Given the description of an element on the screen output the (x, y) to click on. 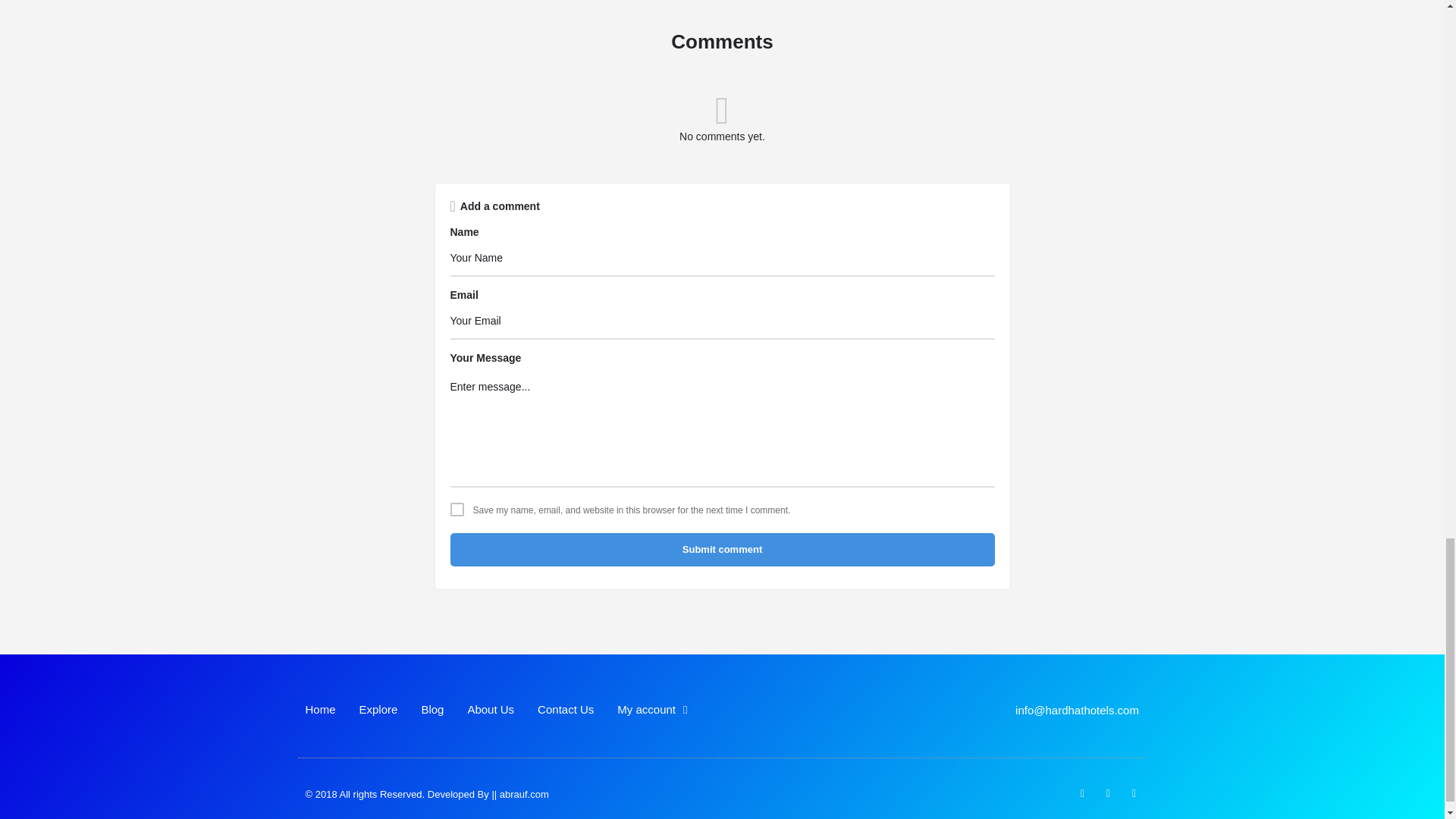
Contact Us (565, 709)
Explore (378, 709)
My account (652, 709)
About Us (490, 709)
Submit comment (721, 549)
